Given the description of an element on the screen output the (x, y) to click on. 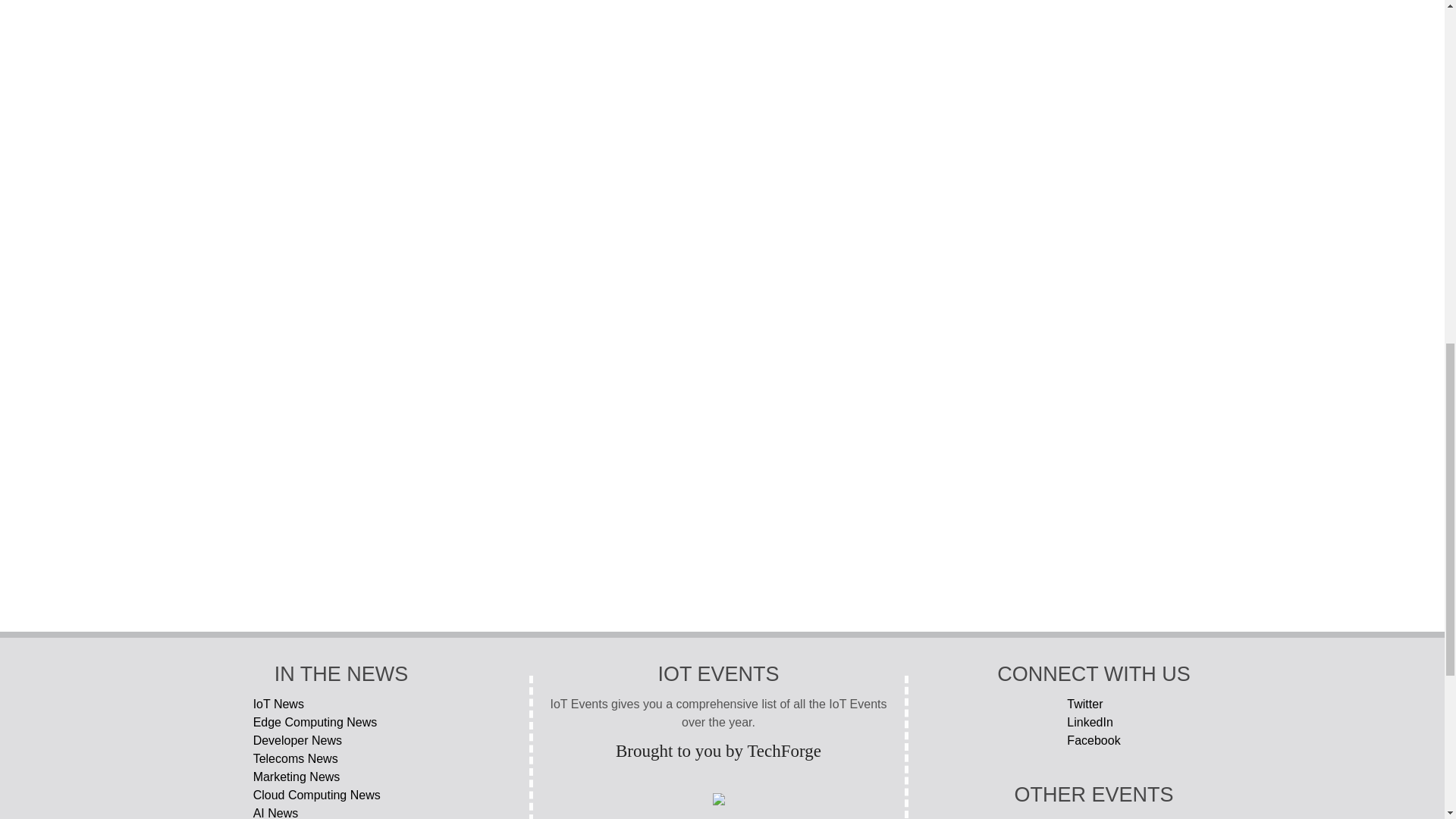
Developer News (341, 741)
Telecoms News (341, 759)
Cloud Computing News (341, 795)
IoT News (341, 704)
Edge Computing News (341, 722)
Marketing News (341, 777)
AI News (341, 811)
